Given the description of an element on the screen output the (x, y) to click on. 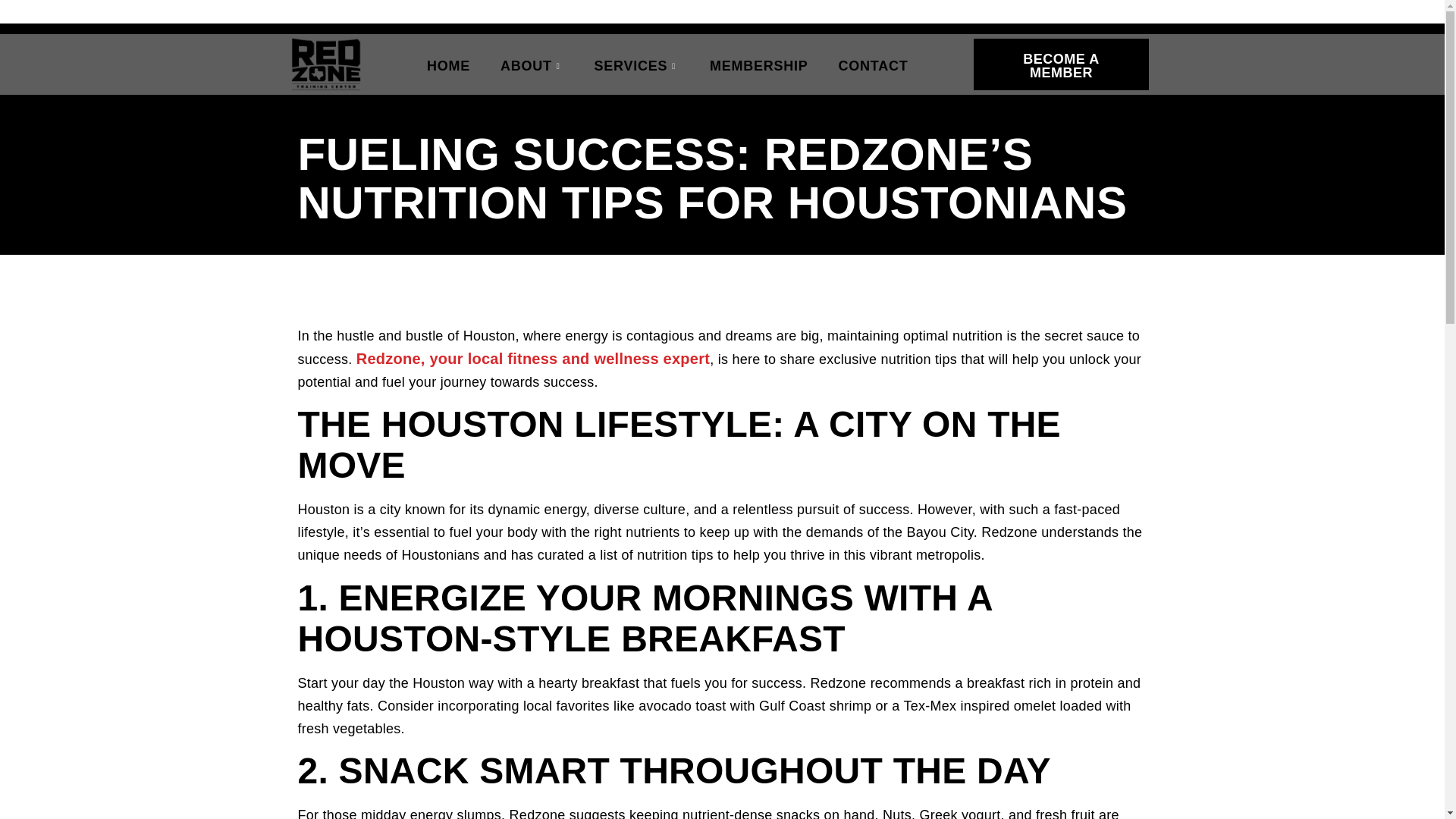
CONTACT (873, 64)
Redzone, your local fitness and wellness expert (533, 358)
BECOME A MEMBER (1061, 64)
SERVICES (636, 64)
ABOUT (531, 64)
MEMBERSHIP (759, 64)
HOME (448, 64)
